Given the description of an element on the screen output the (x, y) to click on. 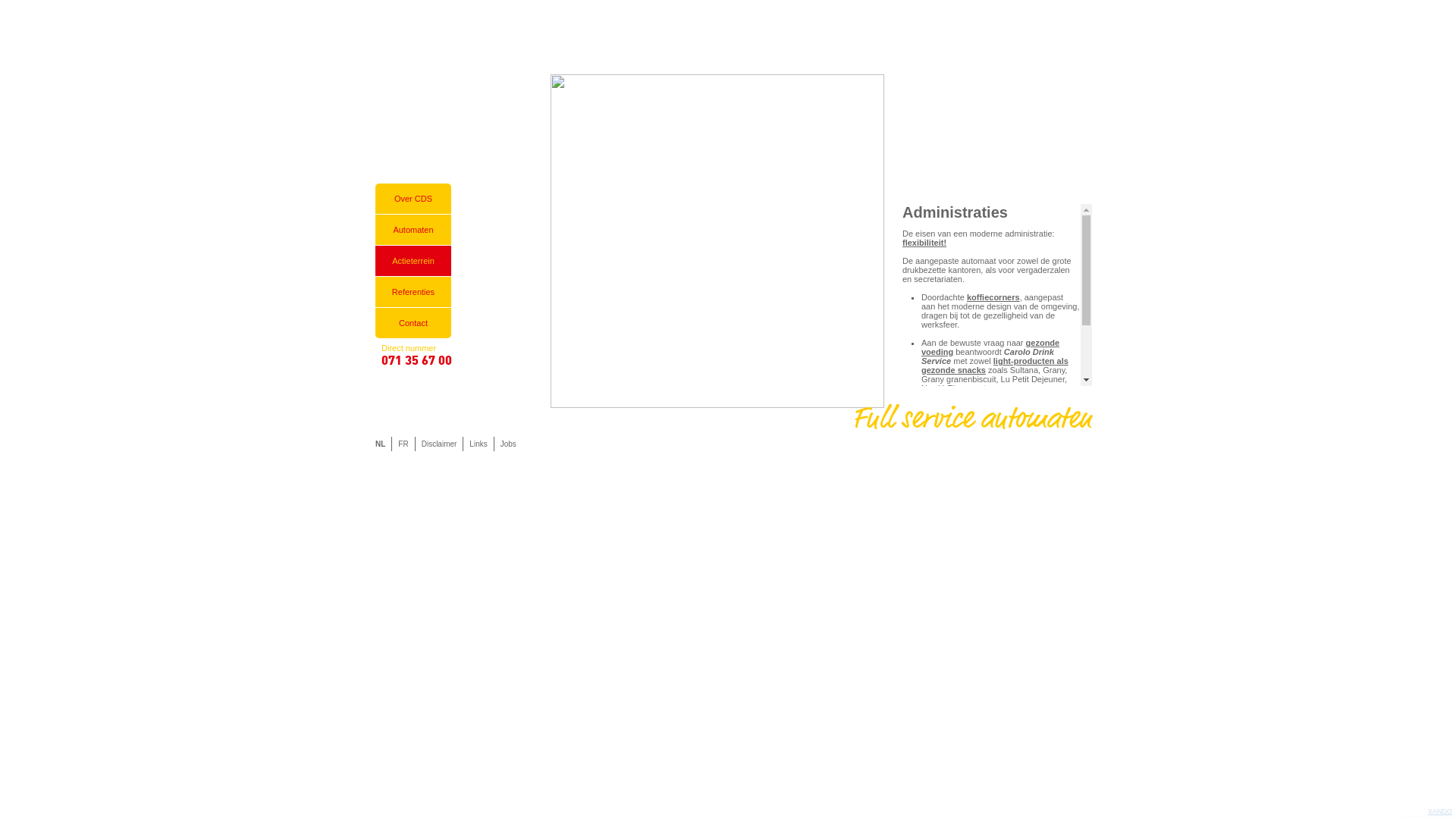
FR Element type: text (402, 443)
XANDO Element type: text (1439, 811)
Jobs Element type: text (507, 443)
Disclaimer Element type: text (438, 443)
Contact Element type: text (413, 322)
Referenties Element type: text (413, 291)
Links Element type: text (477, 443)
Actieterrein Element type: text (413, 260)
Over CDS Element type: text (413, 198)
Automaten Element type: text (413, 228)
NL Element type: text (380, 443)
